Given the description of an element on the screen output the (x, y) to click on. 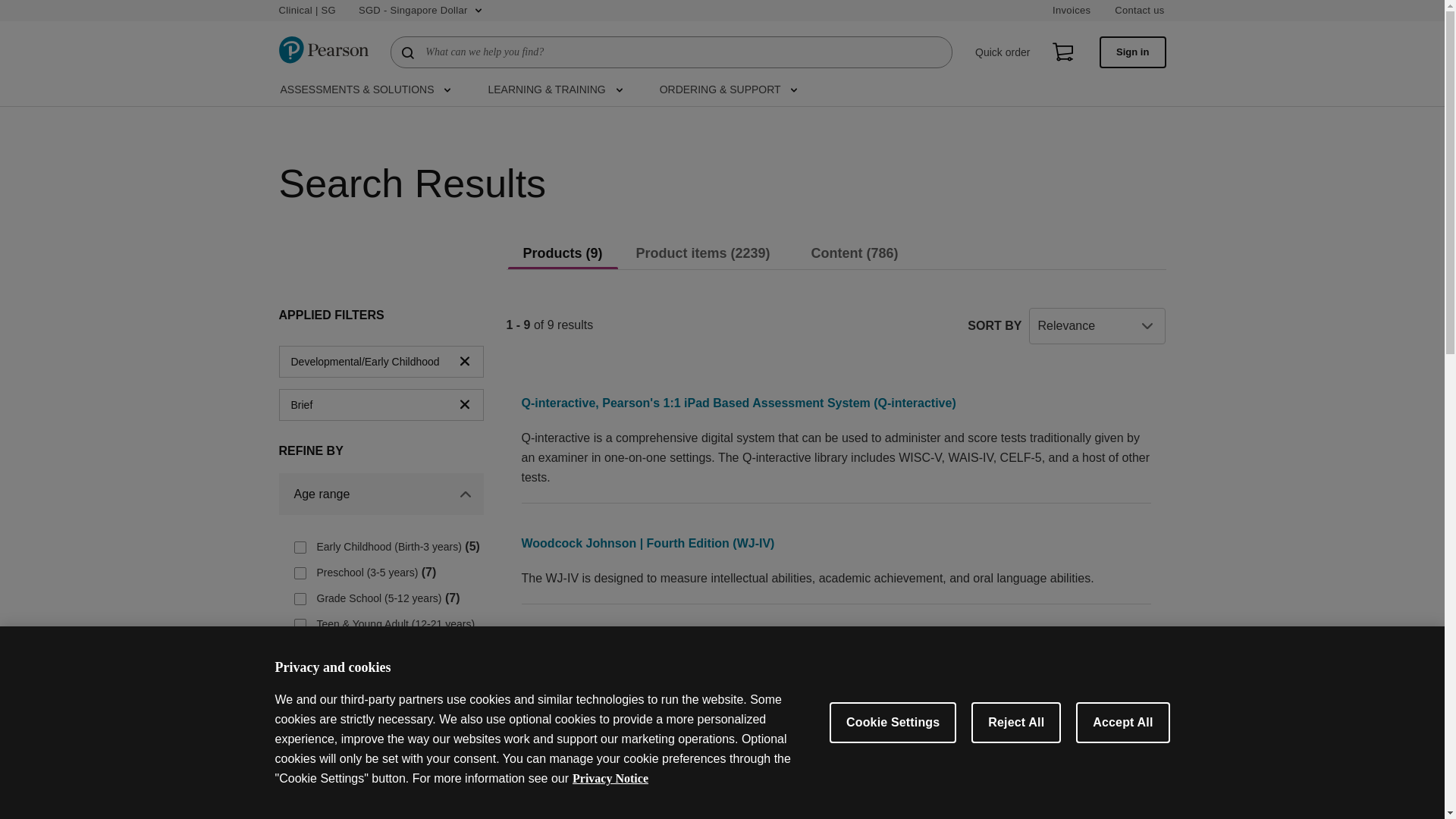
English (299, 801)
SGD - Singapore Dollar (419, 10)
Quick order (1002, 51)
Contact us (1139, 10)
Invoices (1071, 10)
Skip to main content (10, 7)
Submit the search query. (407, 52)
Sign in (1132, 51)
